Given the description of an element on the screen output the (x, y) to click on. 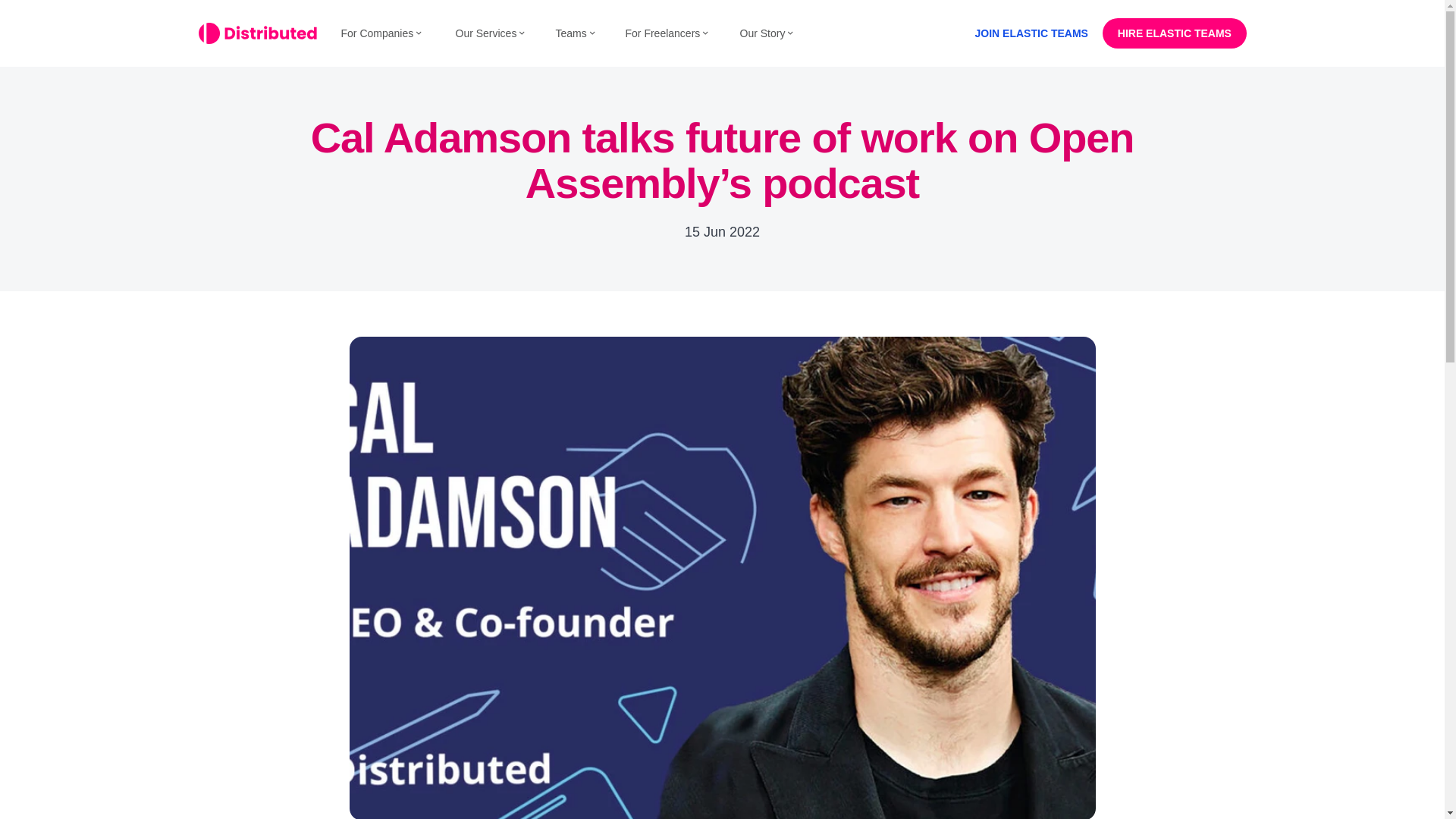
HIRE ELASTIC TEAMS (1174, 33)
JOIN ELASTIC TEAMS (1031, 33)
